Given the description of an element on the screen output the (x, y) to click on. 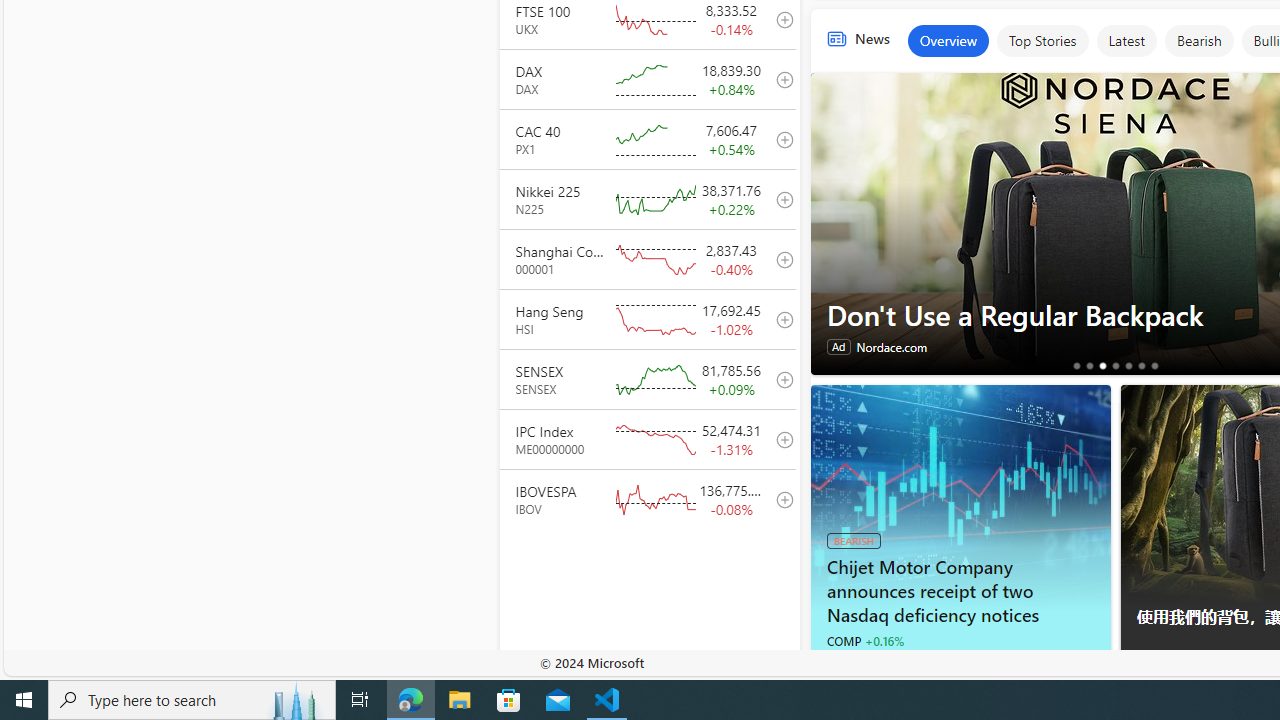
Top Stories (1041, 40)
Bearish (1198, 40)
Ad (1148, 668)
Latest (1126, 40)
COMP +0.16% (864, 640)
Seeking Alpha (834, 664)
